Given the description of an element on the screen output the (x, y) to click on. 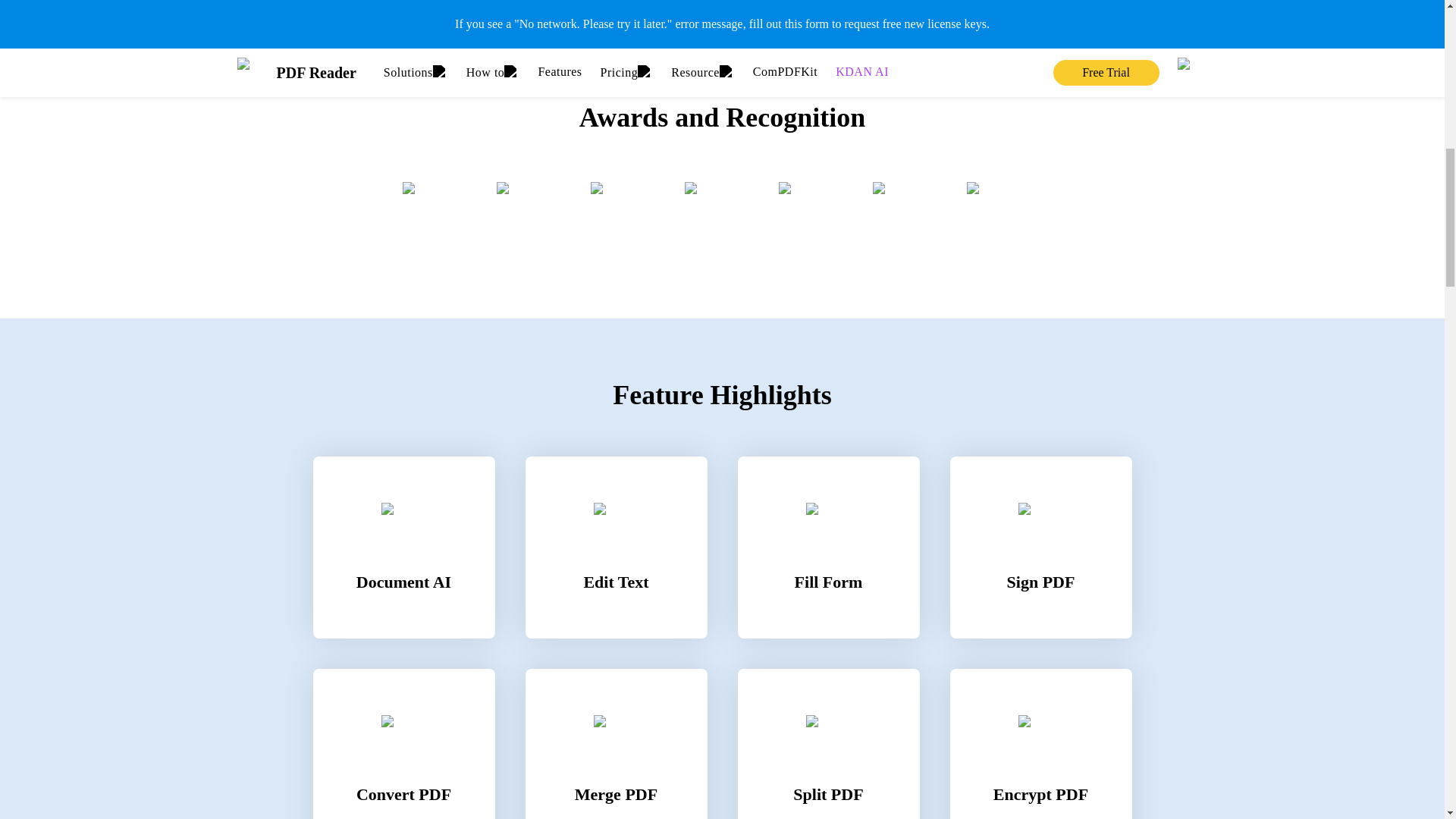
Sign PDF (1040, 547)
Encrypt PDF (1040, 744)
Document AI (404, 547)
Fill Form (827, 547)
Merge PDF (615, 744)
Edit Text (615, 547)
Convert PDF (404, 744)
Split PDF (827, 744)
